Given the description of an element on the screen output the (x, y) to click on. 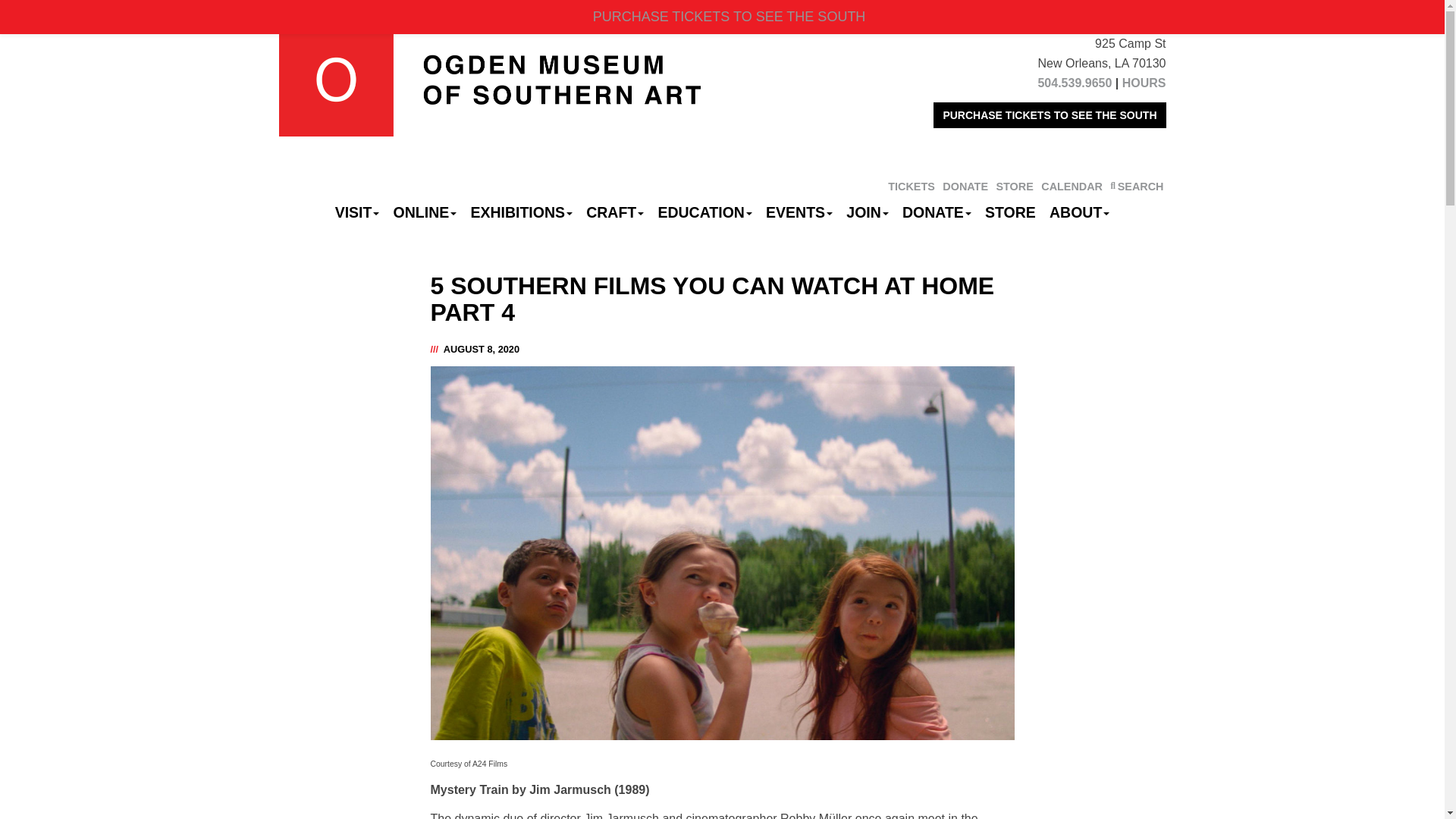
CALENDAR (1071, 186)
EDUCATION (704, 212)
TICKETS (911, 186)
Permalink to 5 Southern Films You Can Watch At Home Part 4 (481, 348)
SEARCH (1136, 186)
ONLINE (425, 212)
504.539.9650 (1074, 82)
VISIT (357, 212)
PURCHASE TICKETS TO SEE THE SOUTH (1049, 114)
DONATE (965, 186)
EXHIBITIONS (521, 212)
CRAFT (614, 212)
STORE (1013, 186)
HOURS (1144, 82)
